Given the description of an element on the screen output the (x, y) to click on. 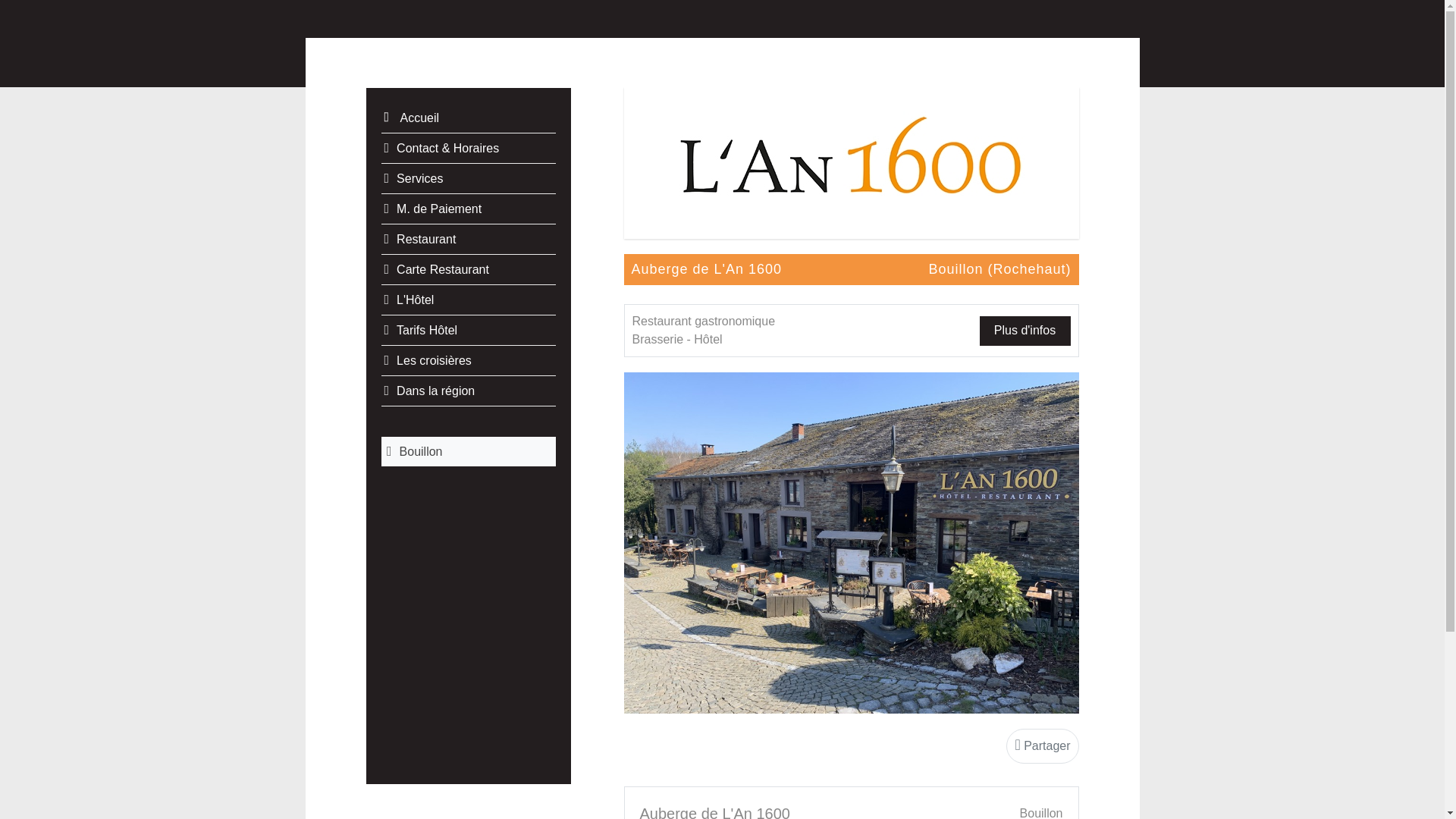
Partager Element type: text (1042, 745)
Carte Restaurant Element type: text (467, 269)
Bouillon Element type: text (467, 451)
Plus d'infos Element type: text (1024, 330)
Restaurant Element type: text (467, 239)
Services Element type: text (467, 178)
Accueil Auberge de L'An 1600 Element type: hover (850, 161)
Accueil Element type: text (467, 118)
Contact & Horaires Element type: text (467, 148)
M. de Paiement Element type: text (467, 209)
